Given the description of an element on the screen output the (x, y) to click on. 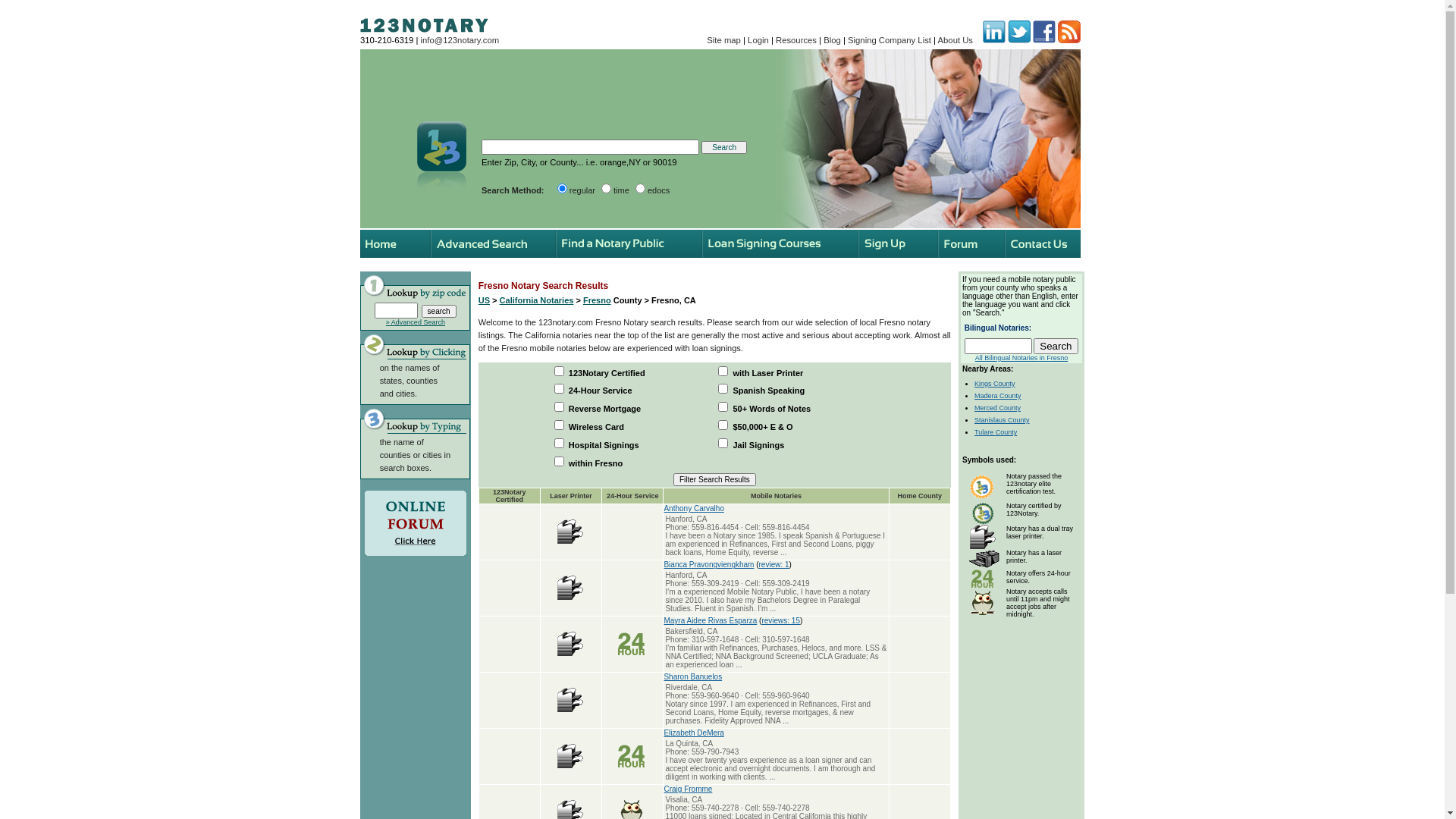
Search Element type: text (723, 147)
Search Element type: text (1055, 346)
California Notaries Element type: text (536, 299)
info@123notary.com Element type: text (459, 39)
Craig Fromme Element type: text (687, 788)
Bianca Pravongviengkham Element type: text (708, 564)
search Element type: text (438, 310)
US Element type: text (483, 299)
Mayra Aidee Rivas Esparza Element type: text (709, 620)
Login Element type: text (757, 39)
time Element type: text (606, 188)
Elizabeth DeMera Element type: text (693, 732)
Kings County Element type: text (994, 383)
Blog Element type: text (831, 39)
Site map Element type: text (723, 39)
Signing Company List Element type: text (889, 39)
All Bilingual Notaries in Fresno Element type: text (1021, 357)
Tulare County Element type: text (995, 432)
Fresno Element type: text (597, 299)
review: 1 Element type: text (774, 564)
Filter Search Results Element type: text (714, 479)
Resources Element type: text (795, 39)
reviews: 15 Element type: text (780, 620)
Sharon Banuelos Element type: text (692, 676)
About Us Element type: text (955, 39)
Stanislaus County Element type: text (1001, 419)
Anthony Carvalho Element type: text (693, 508)
Required Element type: hover (590, 146)
Merced County Element type: text (997, 407)
edocs Element type: text (640, 188)
Madera County Element type: text (997, 395)
regular Element type: text (562, 188)
